Given the description of an element on the screen output the (x, y) to click on. 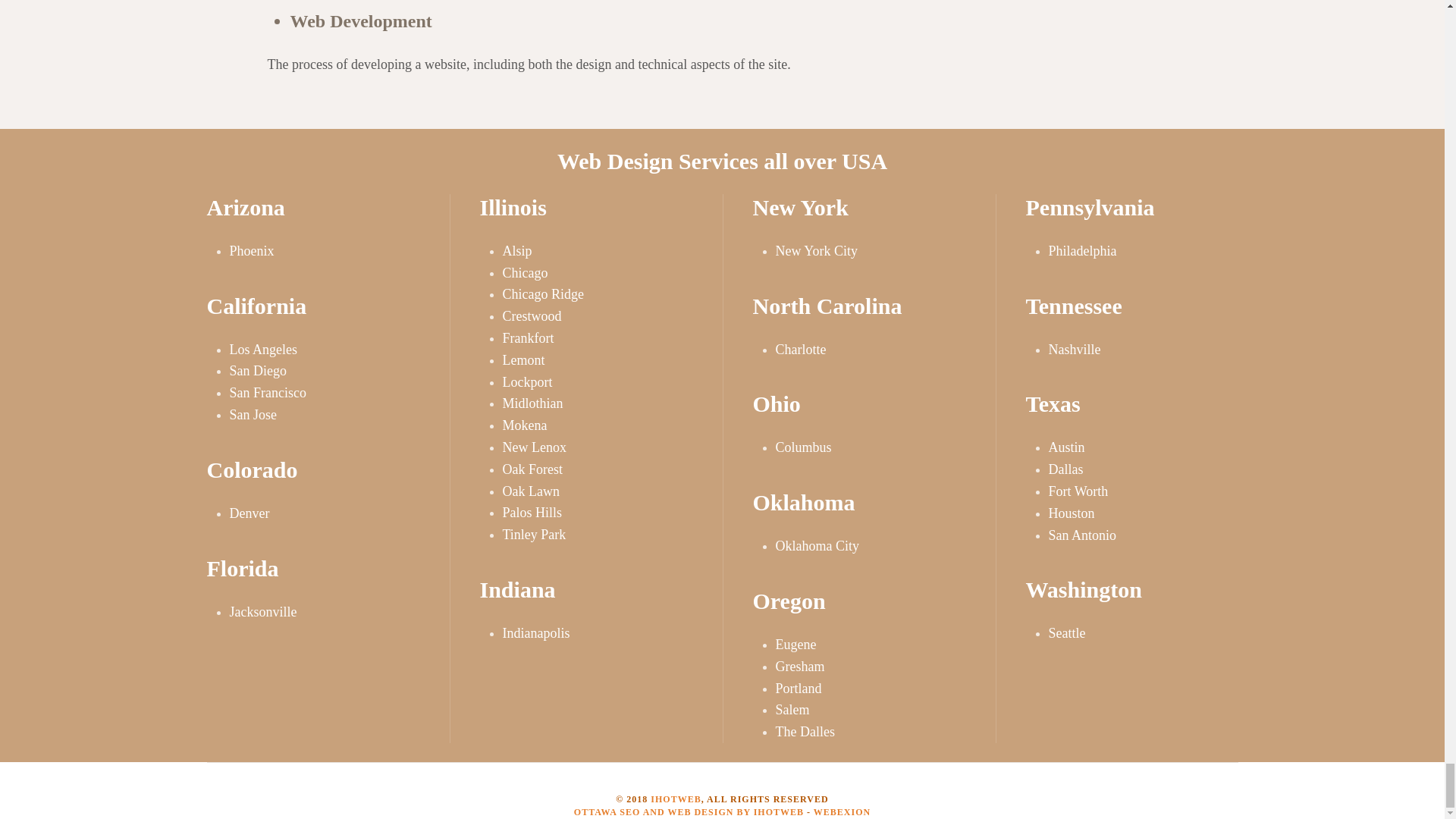
San Jose (252, 414)
Ottawa SEO, Ottawa Web Design (675, 798)
Los Angeles (262, 349)
Denver (248, 513)
San Diego (257, 370)
Phoenix (250, 250)
San Francisco (266, 392)
Ottawa SEO and Web Design by ihotweb (688, 811)
Find professionals near you (841, 811)
